Given the description of an element on the screen output the (x, y) to click on. 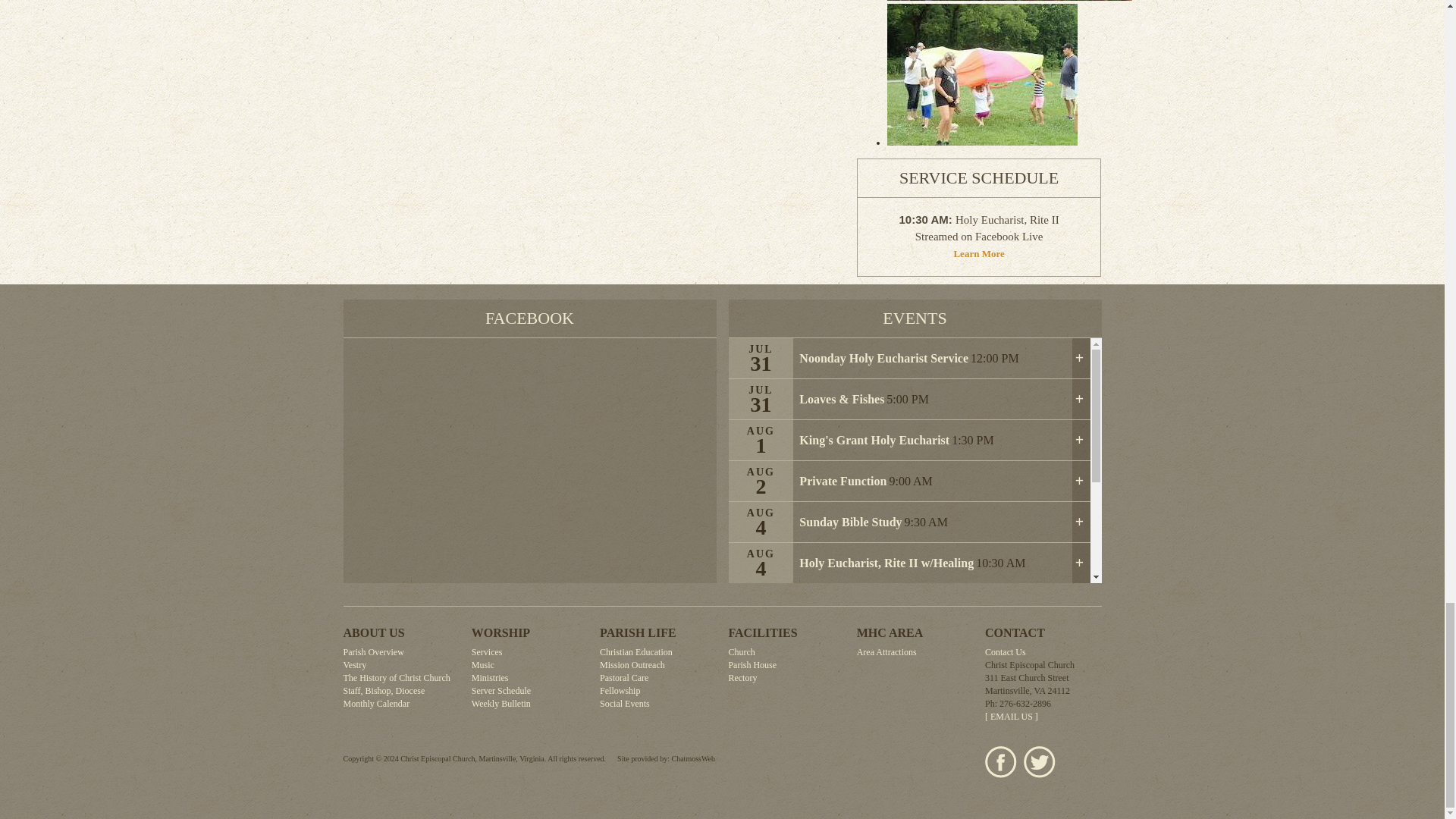
EVENTS (914, 317)
Noonday Holy Eucharist Service (883, 358)
Learn More (978, 253)
King's Grant Holy Eucharist (874, 440)
